Given the description of an element on the screen output the (x, y) to click on. 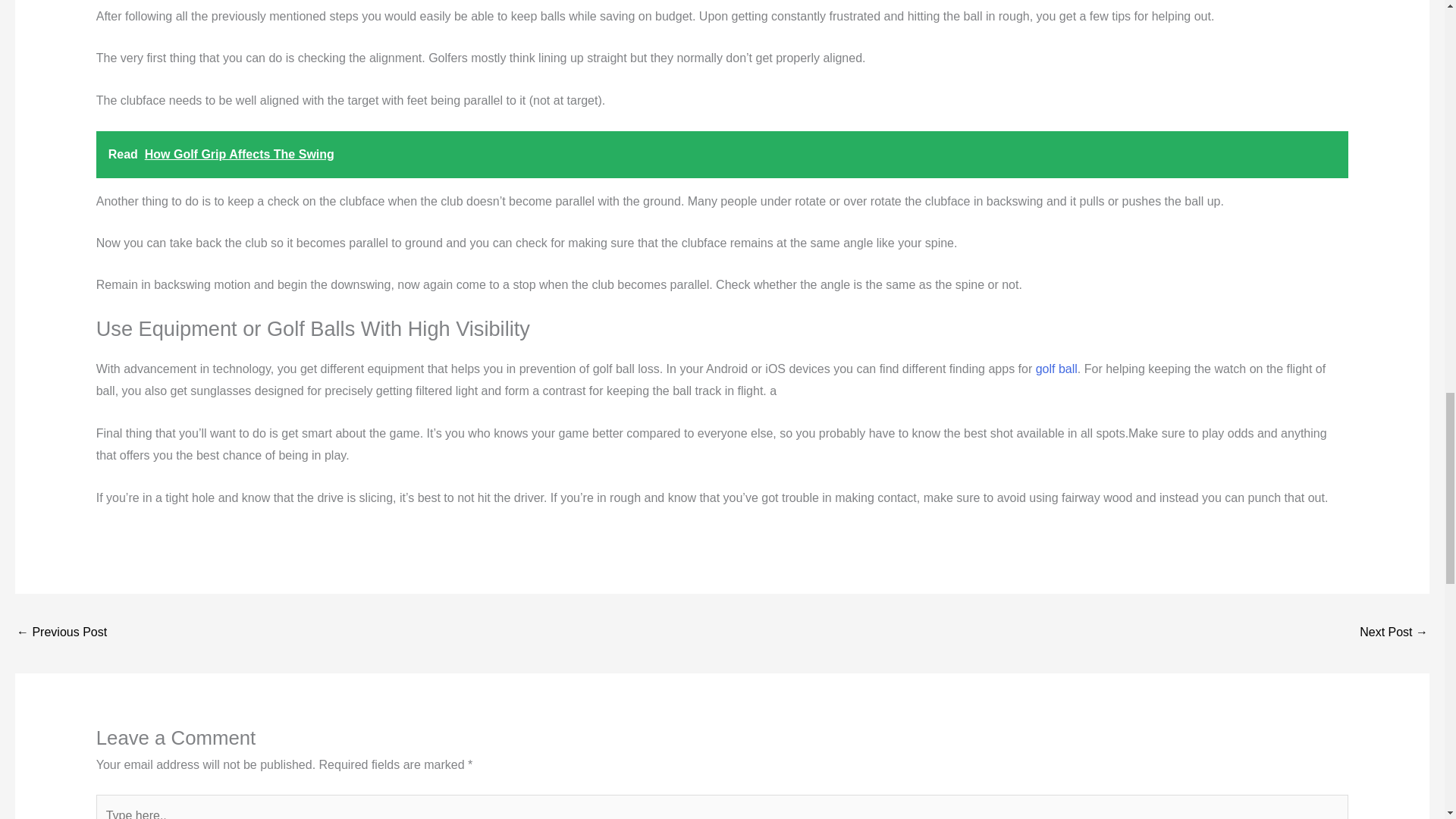
golf ball (1056, 368)
Read  How Golf Grip Affects The Swing (722, 154)
